Given the description of an element on the screen output the (x, y) to click on. 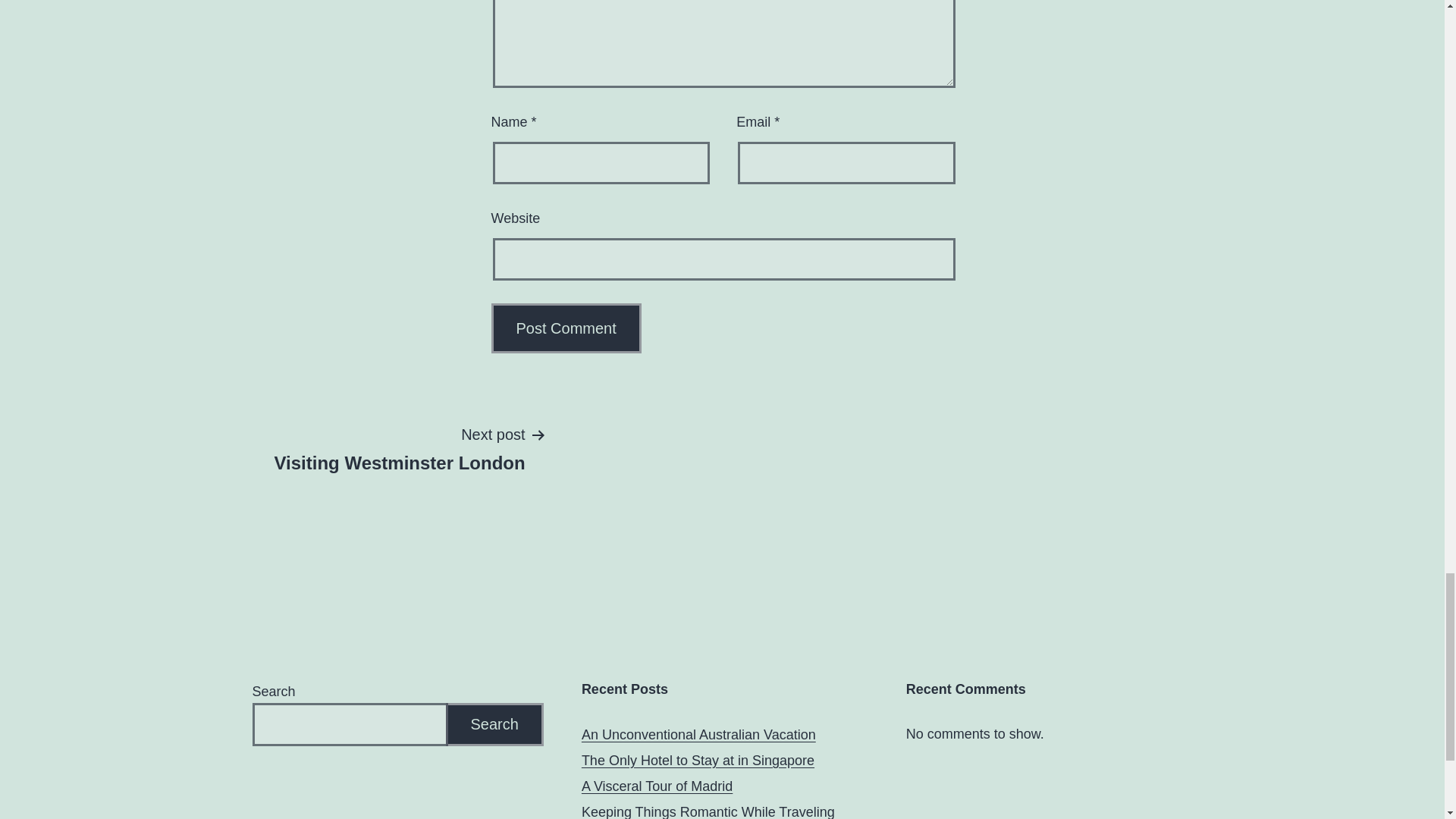
Search (494, 724)
A Visceral Tour of Madrid (656, 786)
Post Comment (567, 327)
An Unconventional Australian Vacation (697, 734)
Keeping Things Romantic While Traveling (707, 811)
The Only Hotel to Stay at in Singapore (696, 760)
Post Comment (567, 327)
